Given the description of an element on the screen output the (x, y) to click on. 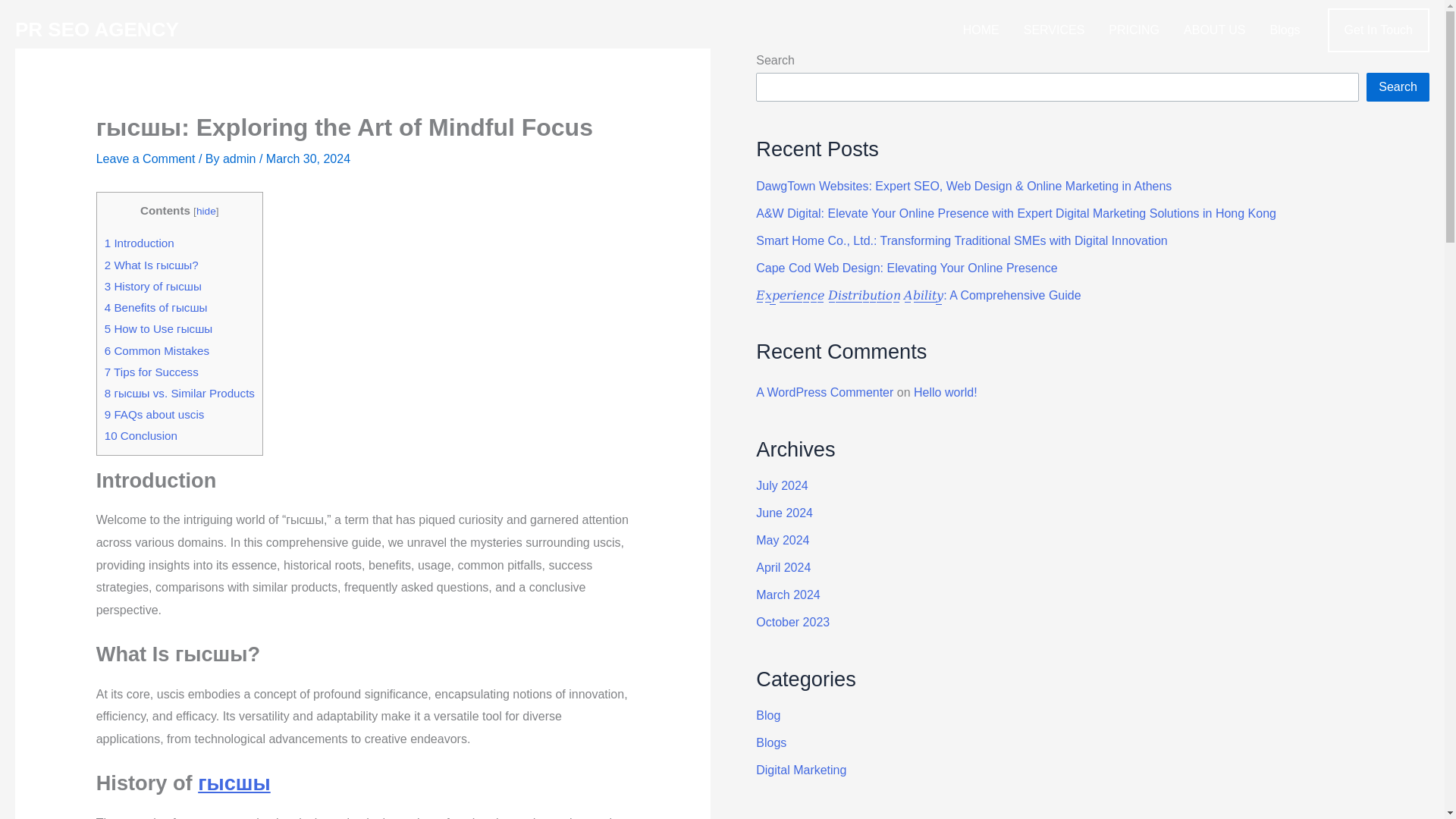
admin (240, 158)
HOME (980, 30)
10 Conclusion (140, 435)
Cape Cod Web Design: Elevating Your Online Presence (906, 267)
1 Introduction (139, 242)
Get In Touch (1378, 30)
9 FAQs about uscis (154, 413)
SERVICES (1054, 30)
A WordPress Commenter (824, 391)
Leave a Comment (145, 158)
PR SEO AGENCY (96, 29)
hide (205, 211)
Blogs (1285, 30)
6 Common Mistakes (156, 350)
